Given the description of an element on the screen output the (x, y) to click on. 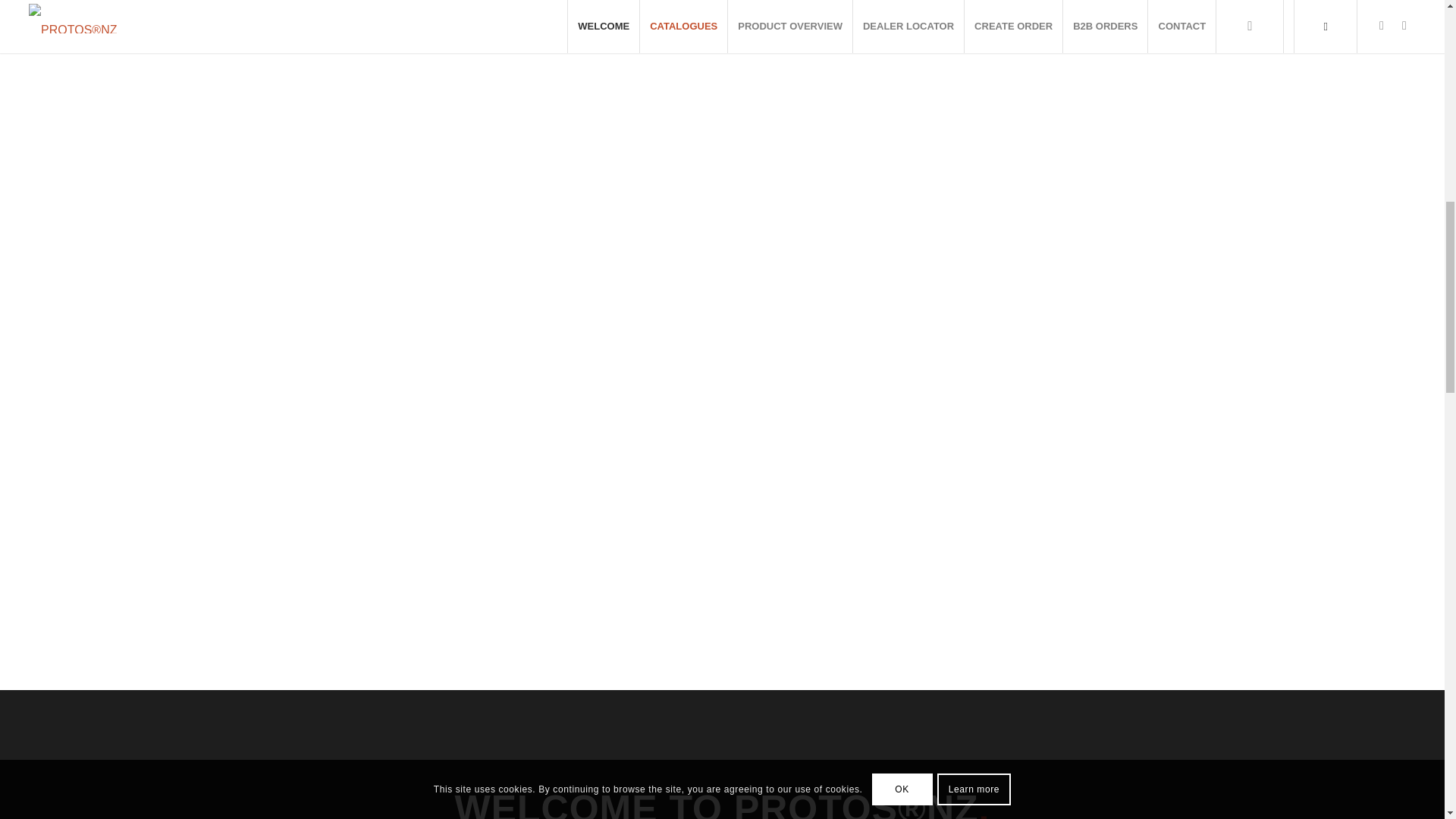
Helmets image (144, 20)
Glasses image (1011, 20)
Accessories image (433, 20)
205200-10-P10 (722, 20)
